Given the description of an element on the screen output the (x, y) to click on. 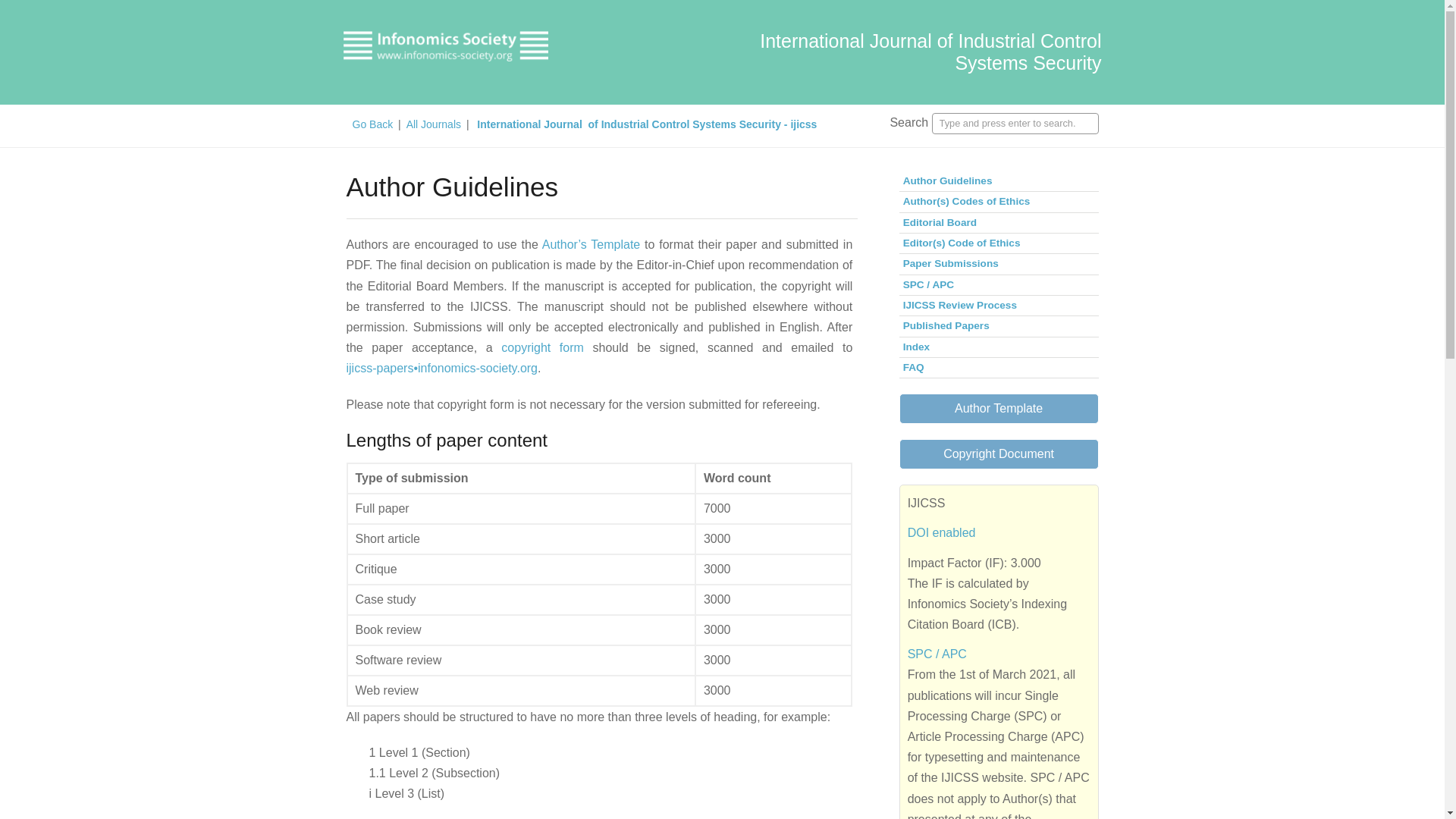
Type and press enter to search. (1015, 123)
International Journal of Industrial Control Systems Security (930, 51)
Author Guidelines (999, 180)
Copyright Document (999, 453)
Go Back (373, 124)
Author Template (999, 408)
copyright form (541, 347)
All Journals (433, 124)
